Given the description of an element on the screen output the (x, y) to click on. 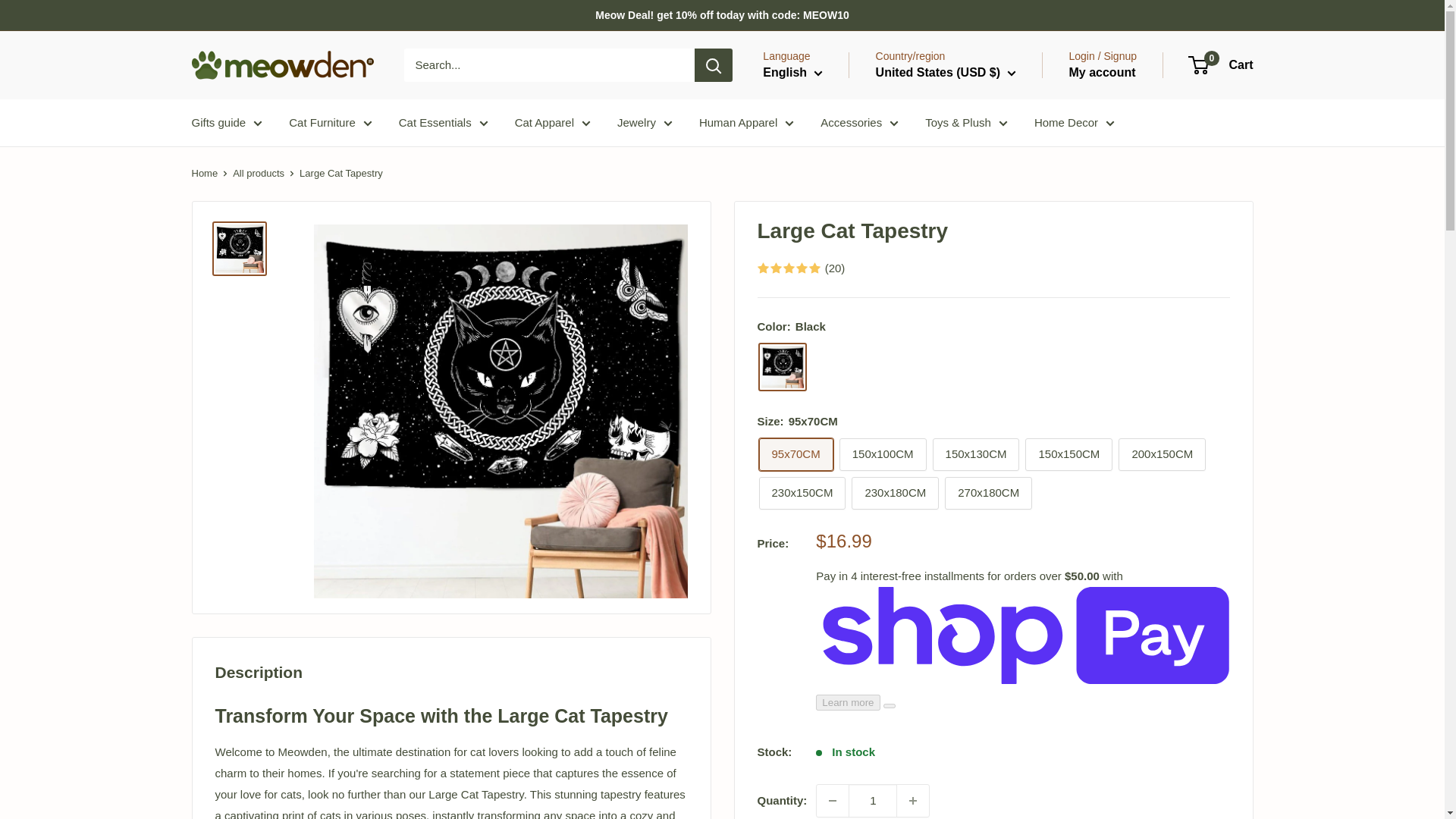
230x150CM (801, 492)
200x150CM (1161, 454)
Increase quantity by 1 (912, 800)
270x180CM (988, 492)
1 (872, 800)
95x70CM (795, 454)
150x130CM (976, 454)
Decrease quantity by 1 (832, 800)
Black (782, 367)
150x100CM (883, 454)
230x180CM (895, 492)
150x150CM (1068, 454)
